Given the description of an element on the screen output the (x, y) to click on. 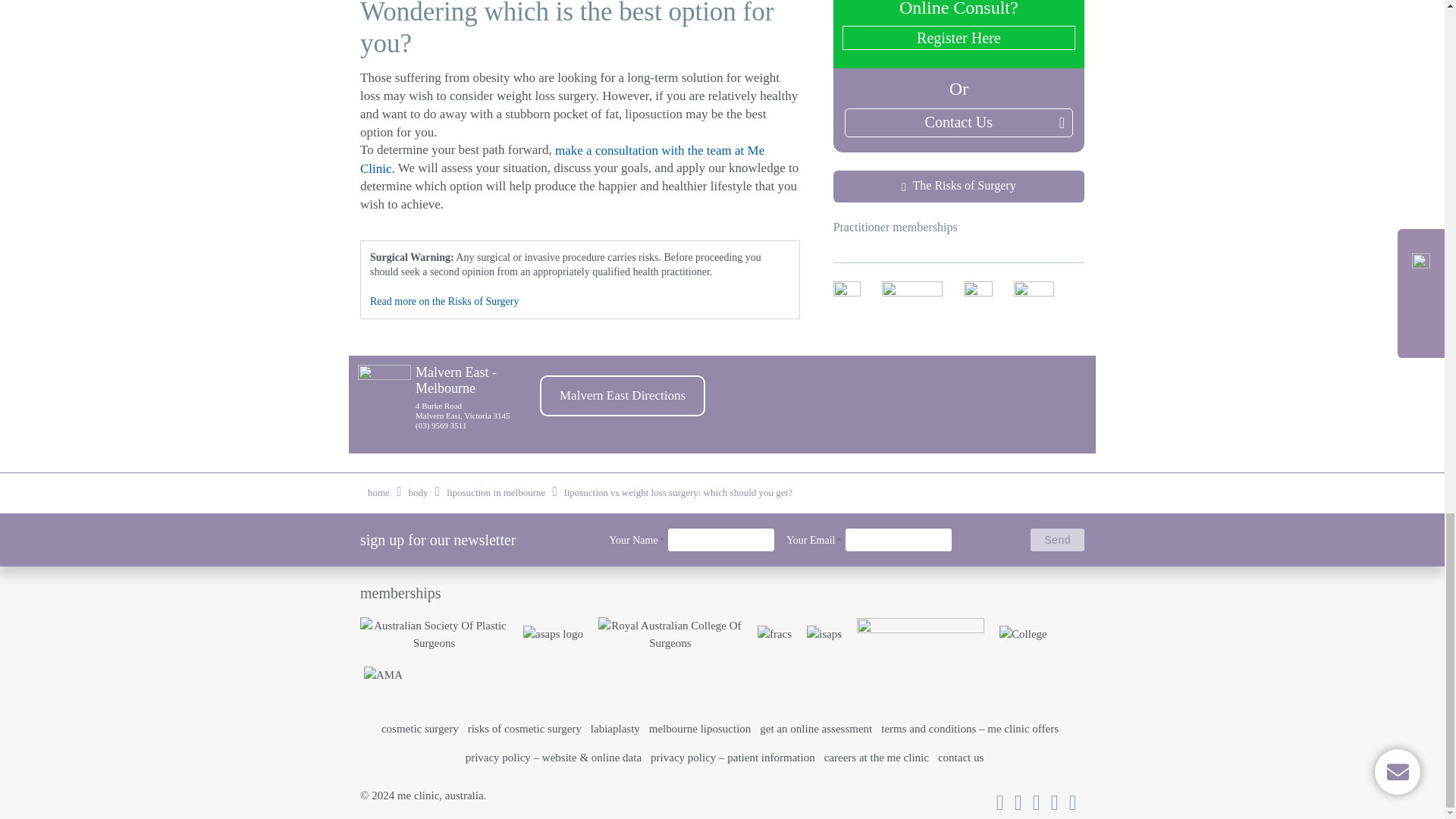
Send (1057, 539)
